Given the description of an element on the screen output the (x, y) to click on. 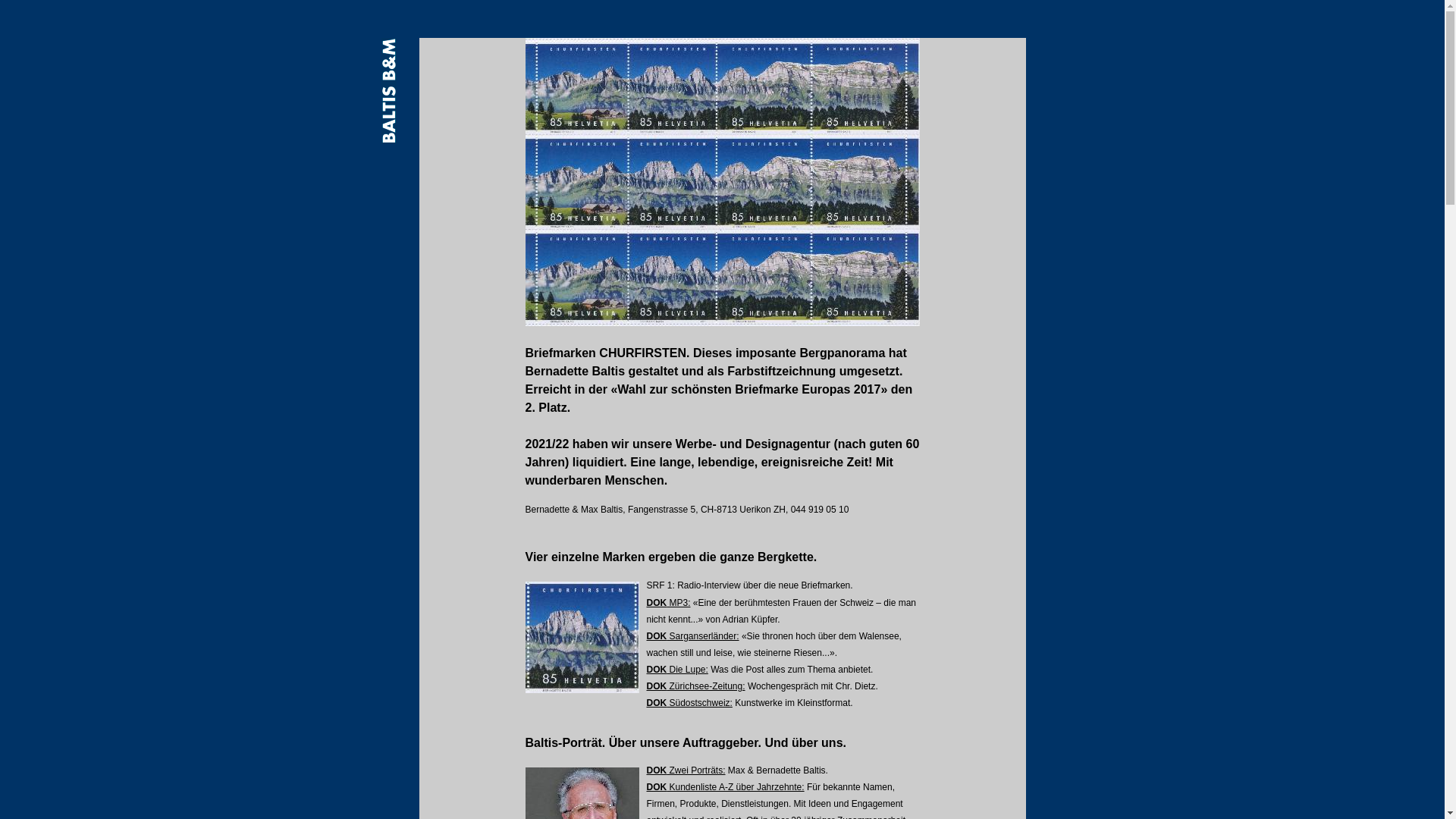
DOK Die Lupe: Element type: text (676, 669)
DOK MP3: Element type: text (668, 602)
